Given the description of an element on the screen output the (x, y) to click on. 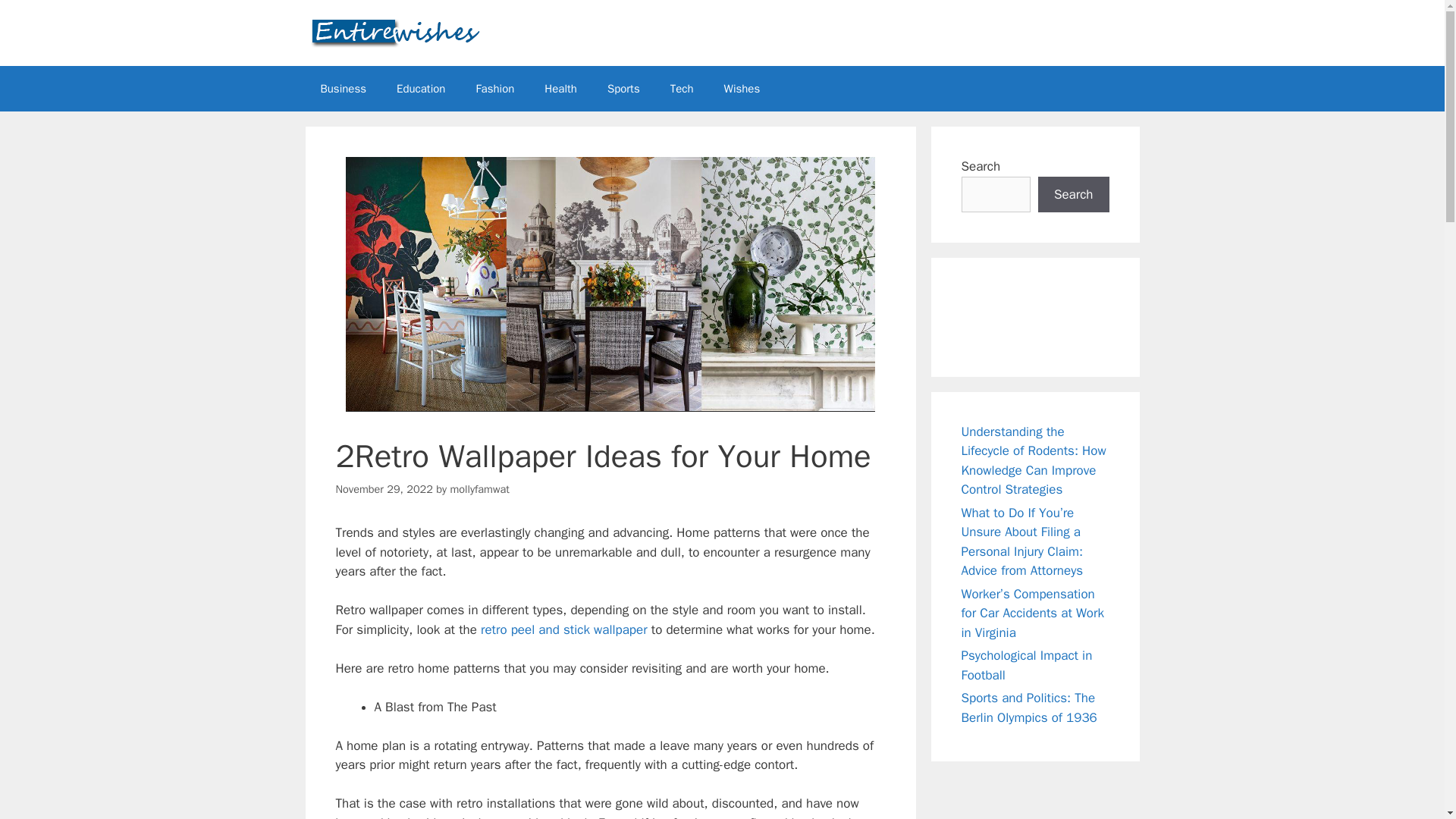
Sports and Politics: The Berlin Olympics of 1936 (1028, 707)
Education (420, 88)
View all posts by mollyfamwat (478, 489)
retro peel and stick wallpaper (563, 629)
mollyfamwat (478, 489)
Tech (682, 88)
Fashion (494, 88)
Business (342, 88)
Search (1073, 194)
Wishes (742, 88)
Sports (623, 88)
Health (560, 88)
Psychological Impact in Football (1026, 665)
